Given the description of an element on the screen output the (x, y) to click on. 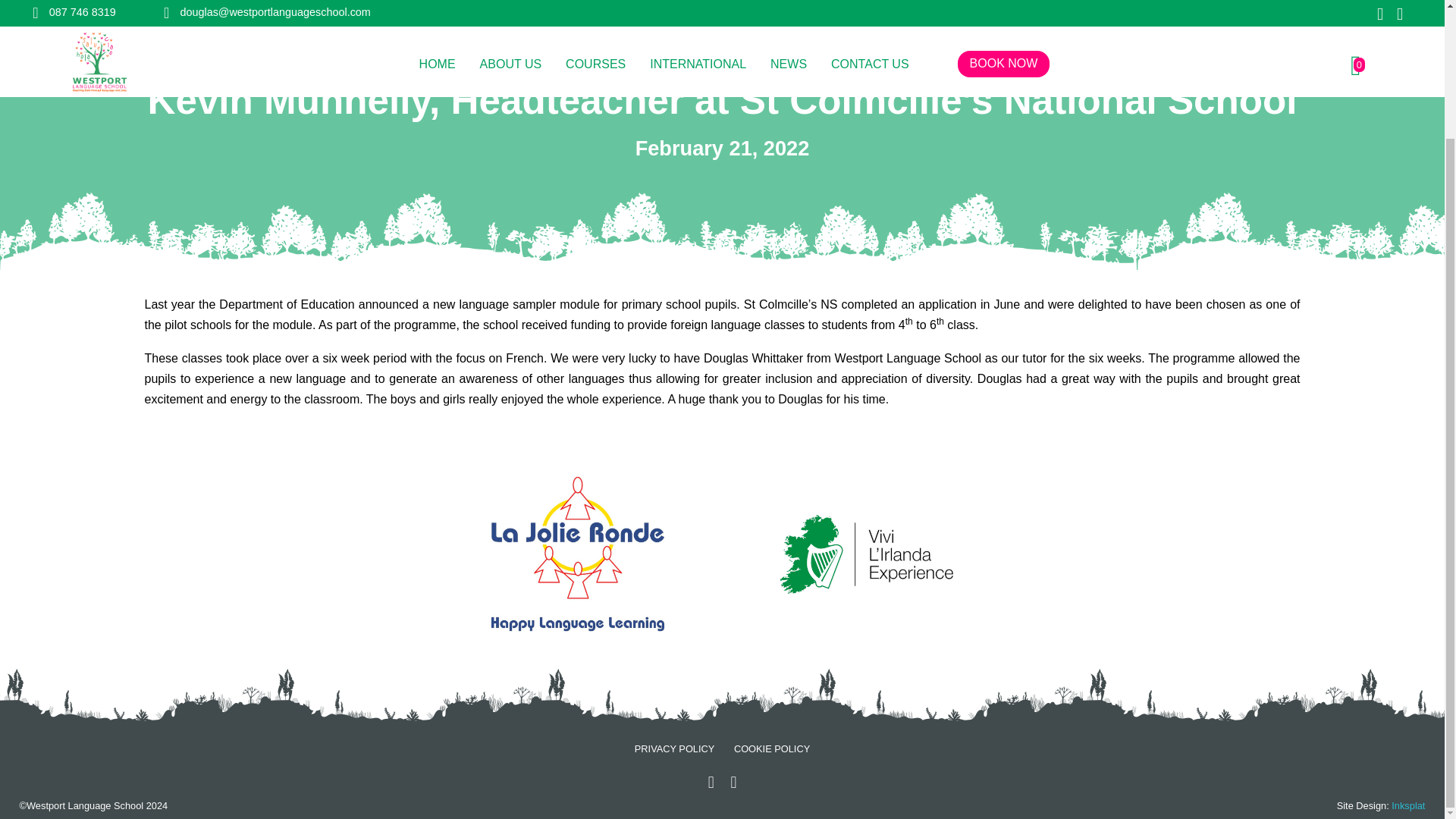
COOKIE POLICY (771, 748)
Inksplat (1408, 805)
PRIVACY POLICY (674, 748)
